Given the description of an element on the screen output the (x, y) to click on. 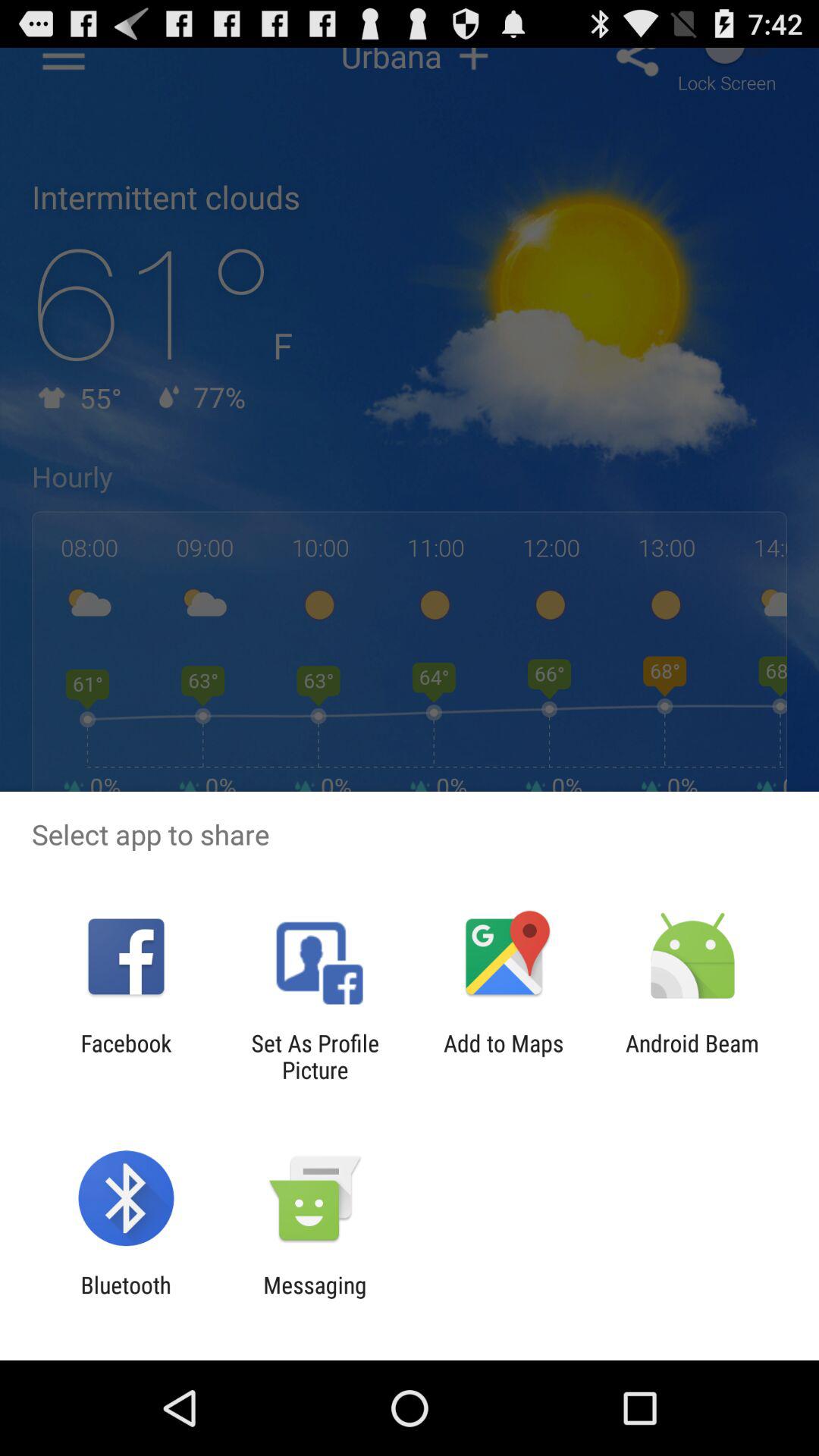
turn on the icon to the left of set as profile item (125, 1056)
